Given the description of an element on the screen output the (x, y) to click on. 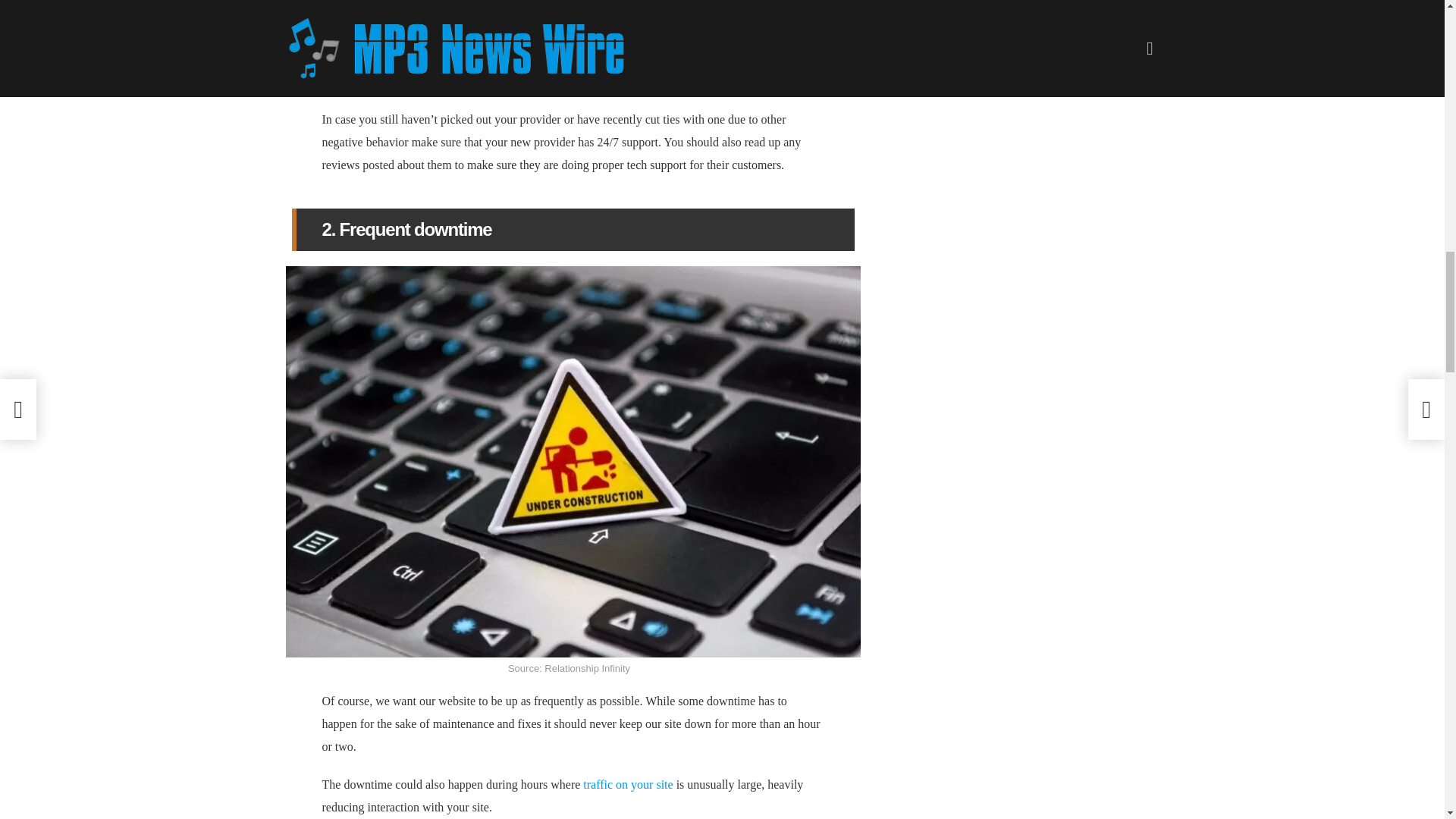
traffic on your site (627, 784)
